Given the description of an element on the screen output the (x, y) to click on. 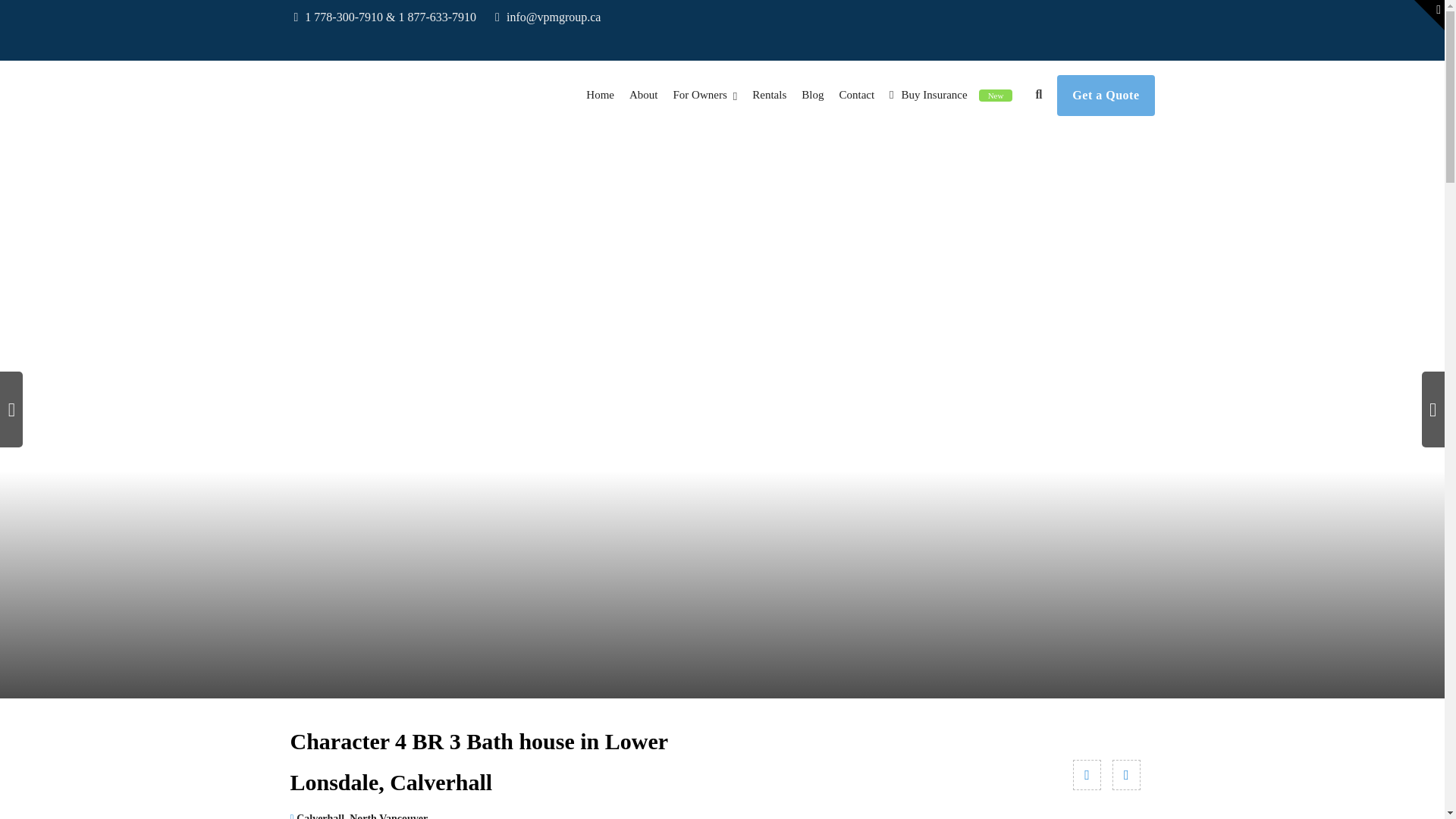
North Vancouver (388, 816)
Get a Quote (1105, 95)
For Owners (705, 94)
North Vancouver (388, 816)
Calverhall (320, 816)
Buy InsuranceNew (951, 94)
Calverhall (320, 816)
